Given the description of an element on the screen output the (x, y) to click on. 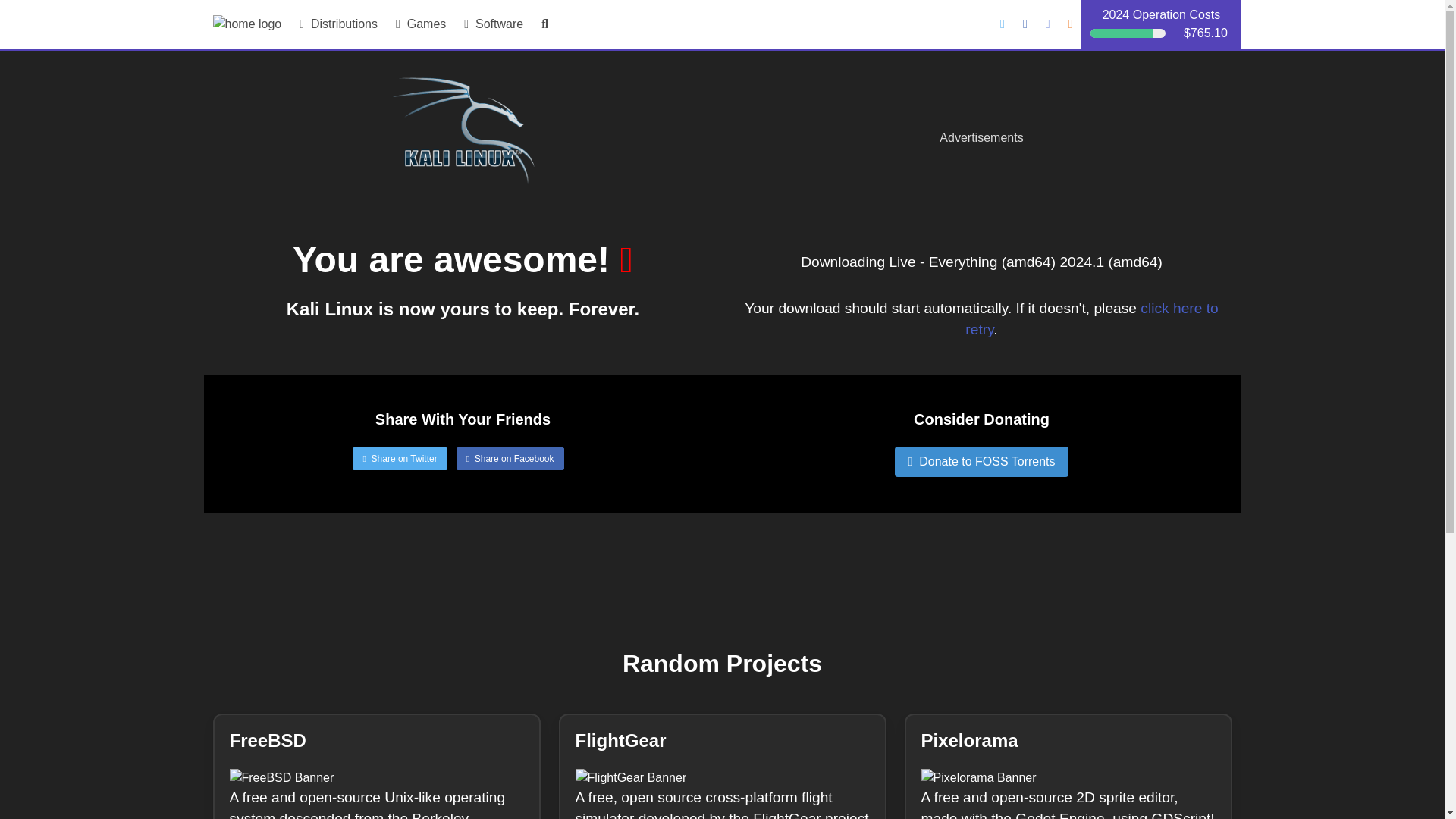
  Donate to FOSS Torrents (981, 454)
  Software (493, 24)
  Share on Facebook (510, 461)
click here to retry (1091, 319)
  Share on Twitter (399, 461)
  Donate to FOSS Torrents (981, 461)
  Distributions (338, 24)
  Games (420, 24)
  Share on Twitter (399, 458)
